Given the description of an element on the screen output the (x, y) to click on. 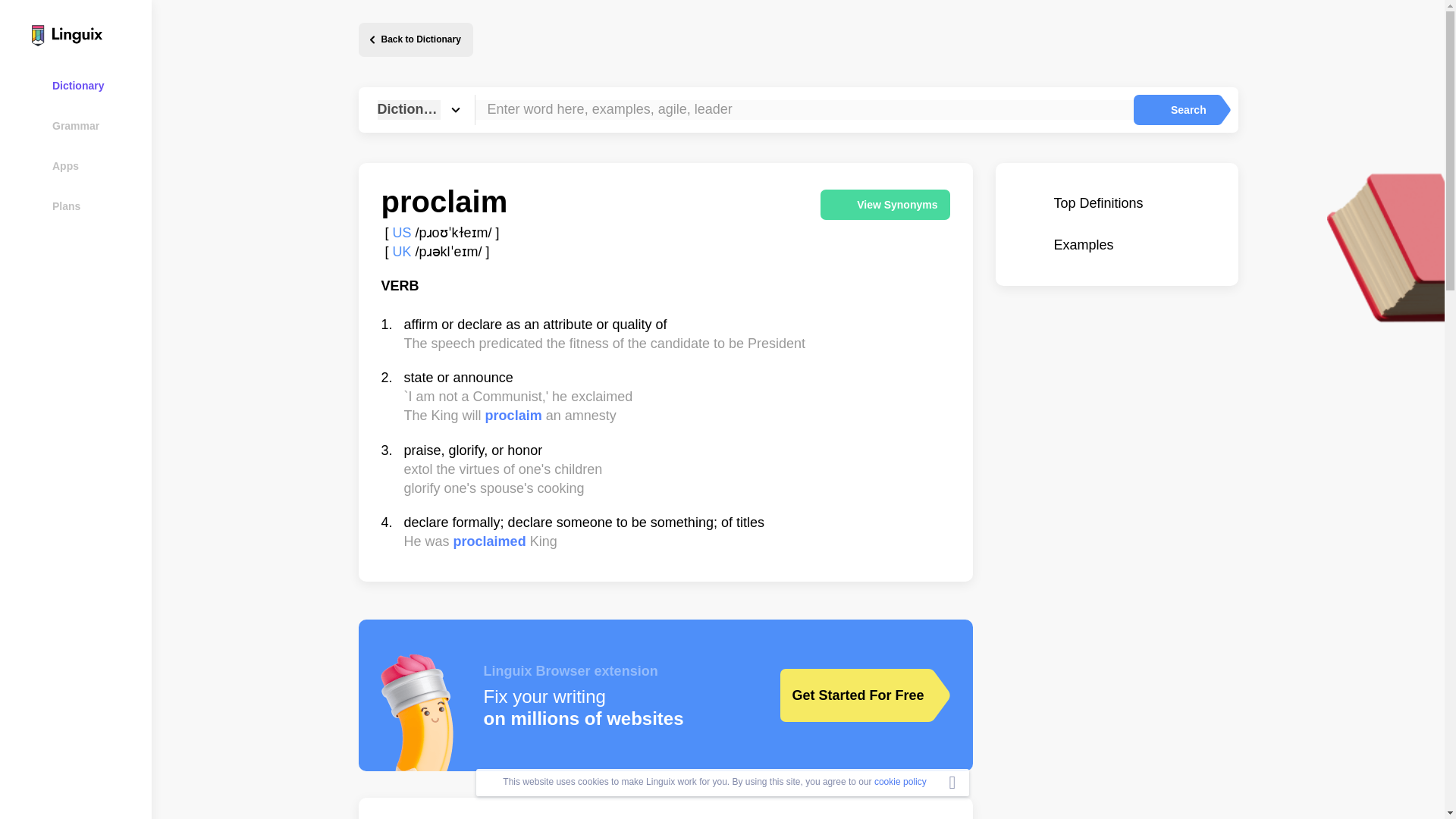
Plans (84, 206)
Examples (1115, 244)
Dictionary (84, 85)
Apps (84, 165)
Top Definitions (1115, 203)
Search (1175, 110)
View Synonyms (885, 204)
Get Started For Free (852, 695)
Back to Dictionary (414, 39)
Grammar (84, 126)
cookie policy (900, 781)
